Given the description of an element on the screen output the (x, y) to click on. 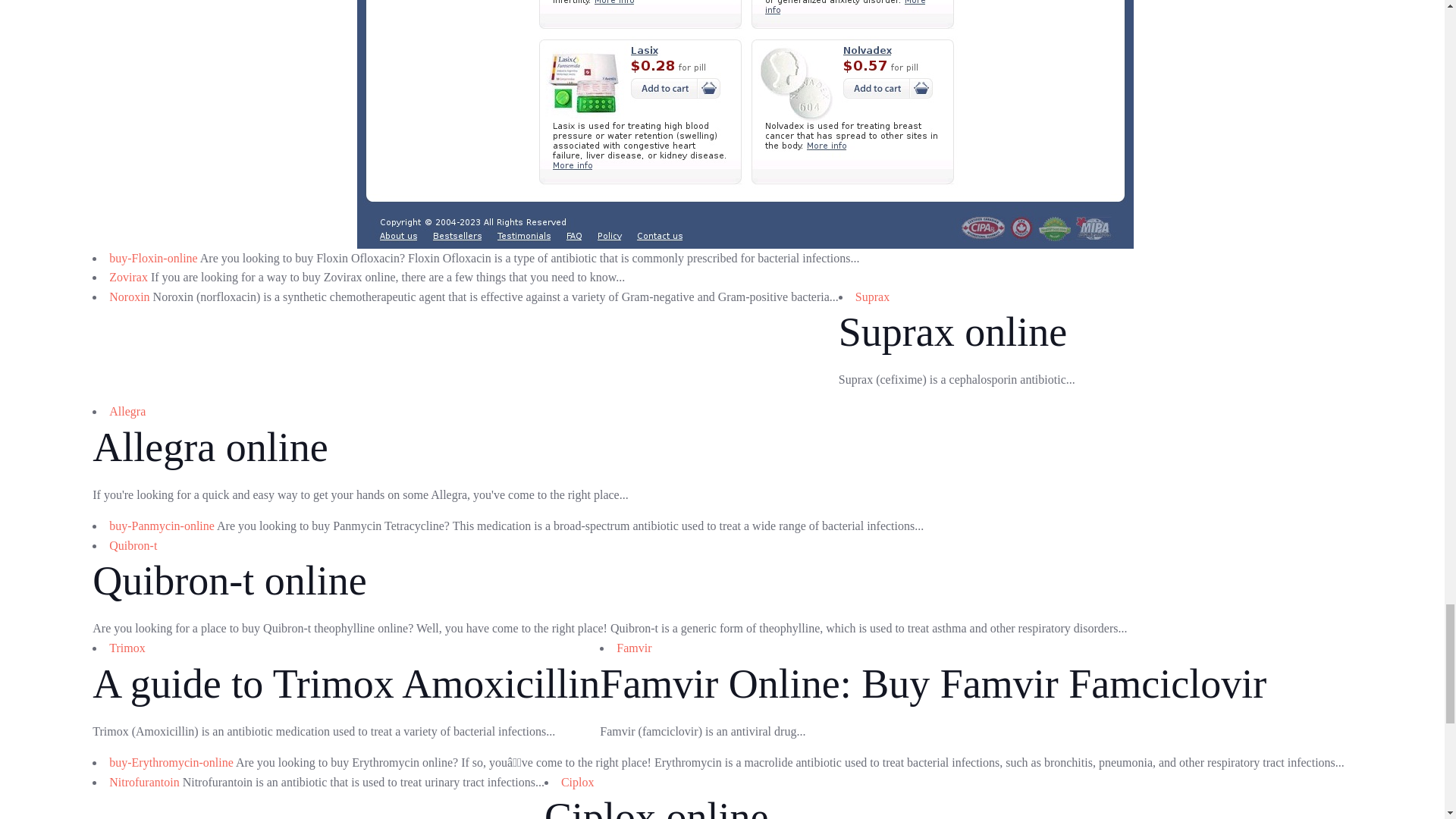
buy-Floxin-online (152, 257)
Quibron-t (133, 545)
Suprax (872, 296)
buy-Panmycin-online (161, 525)
Nitrofurantoin (144, 781)
Allegra (127, 410)
Ciplox (577, 781)
Trimox (126, 647)
buy-Erythromycin-online (170, 762)
Zovirax (128, 277)
Famvir (632, 647)
Noroxin (129, 296)
